Given the description of an element on the screen output the (x, y) to click on. 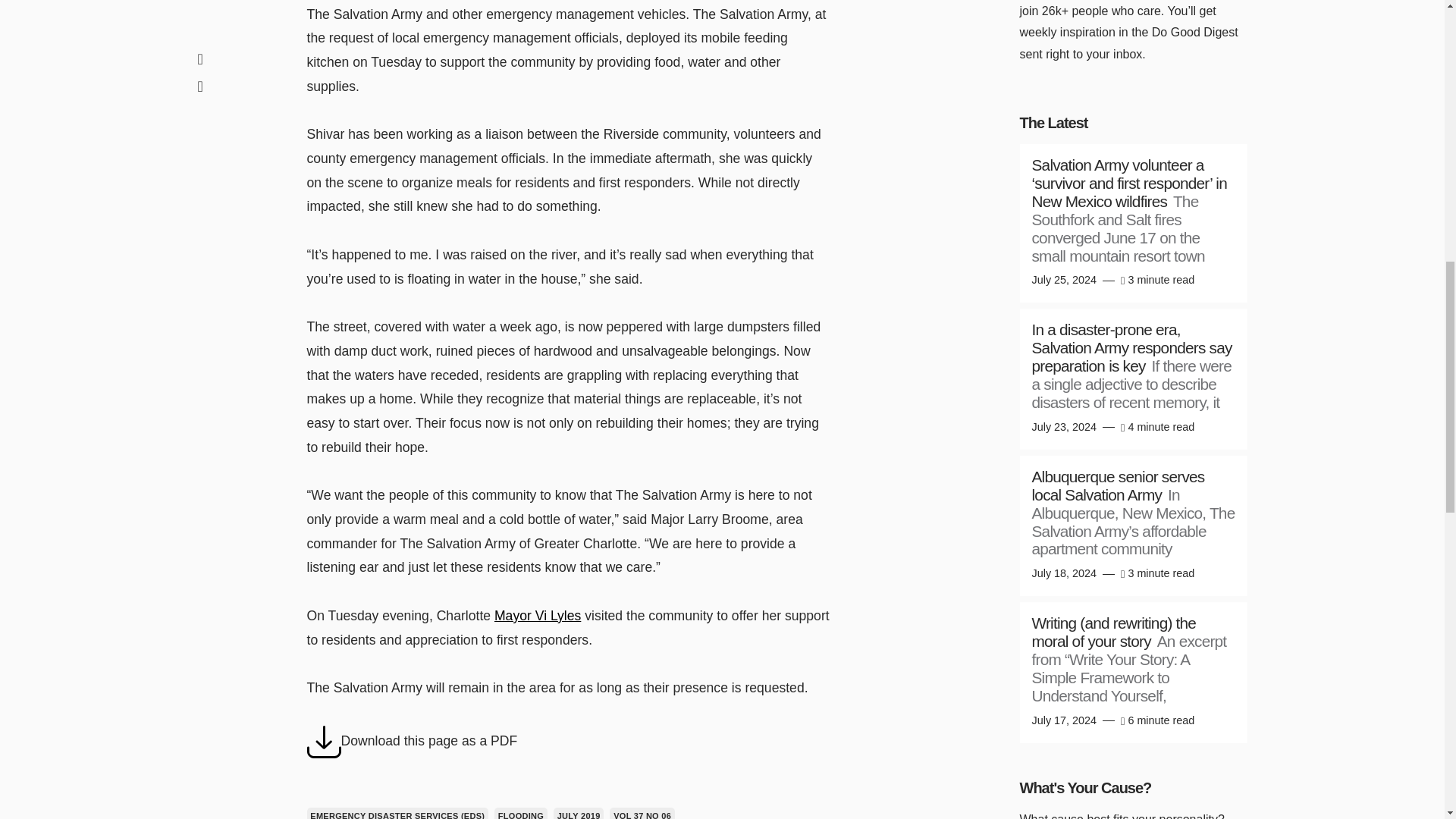
Generate PDF (322, 741)
